Given the description of an element on the screen output the (x, y) to click on. 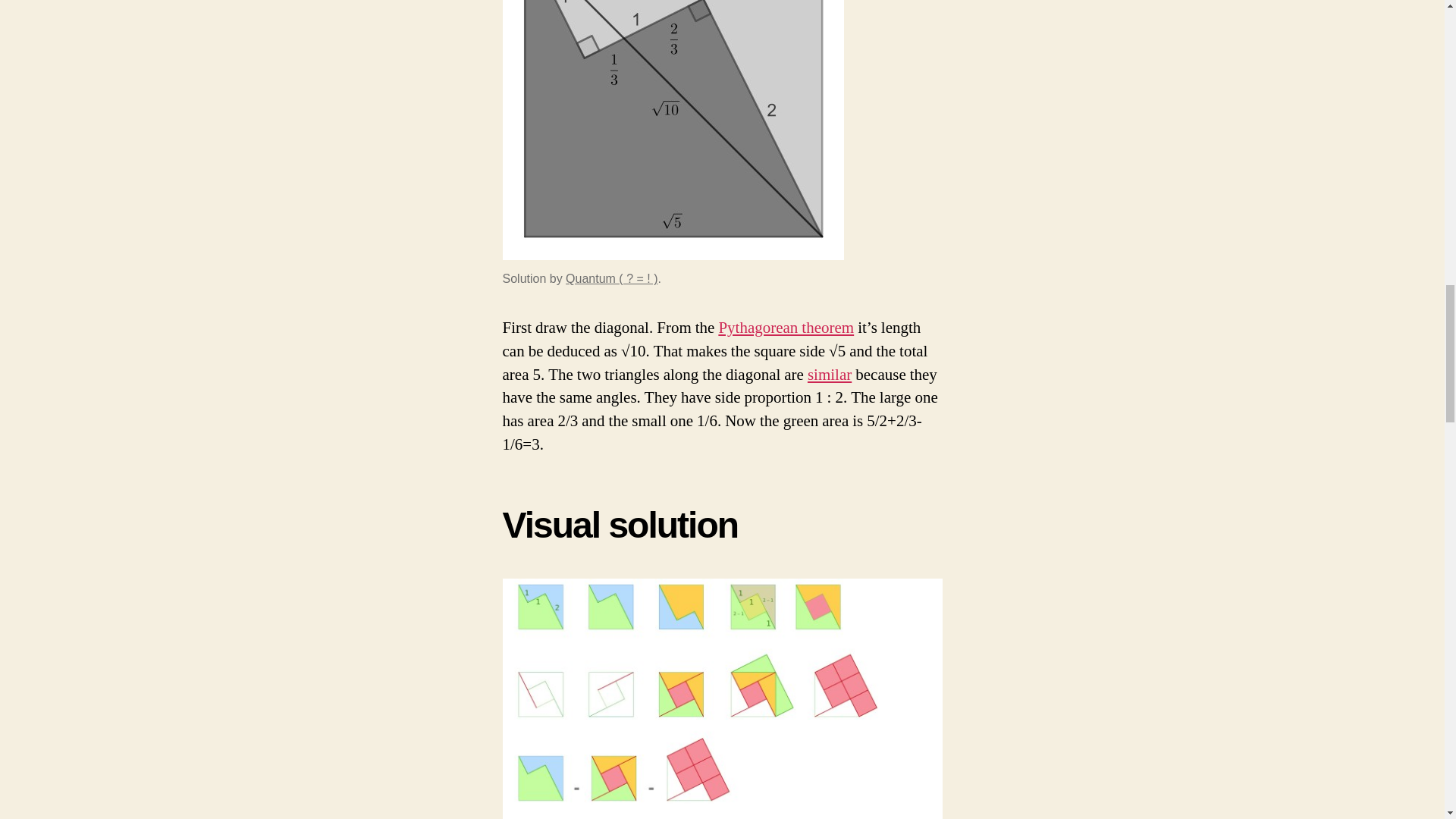
similar (829, 373)
Pythagorean theorem (785, 327)
